Given the description of an element on the screen output the (x, y) to click on. 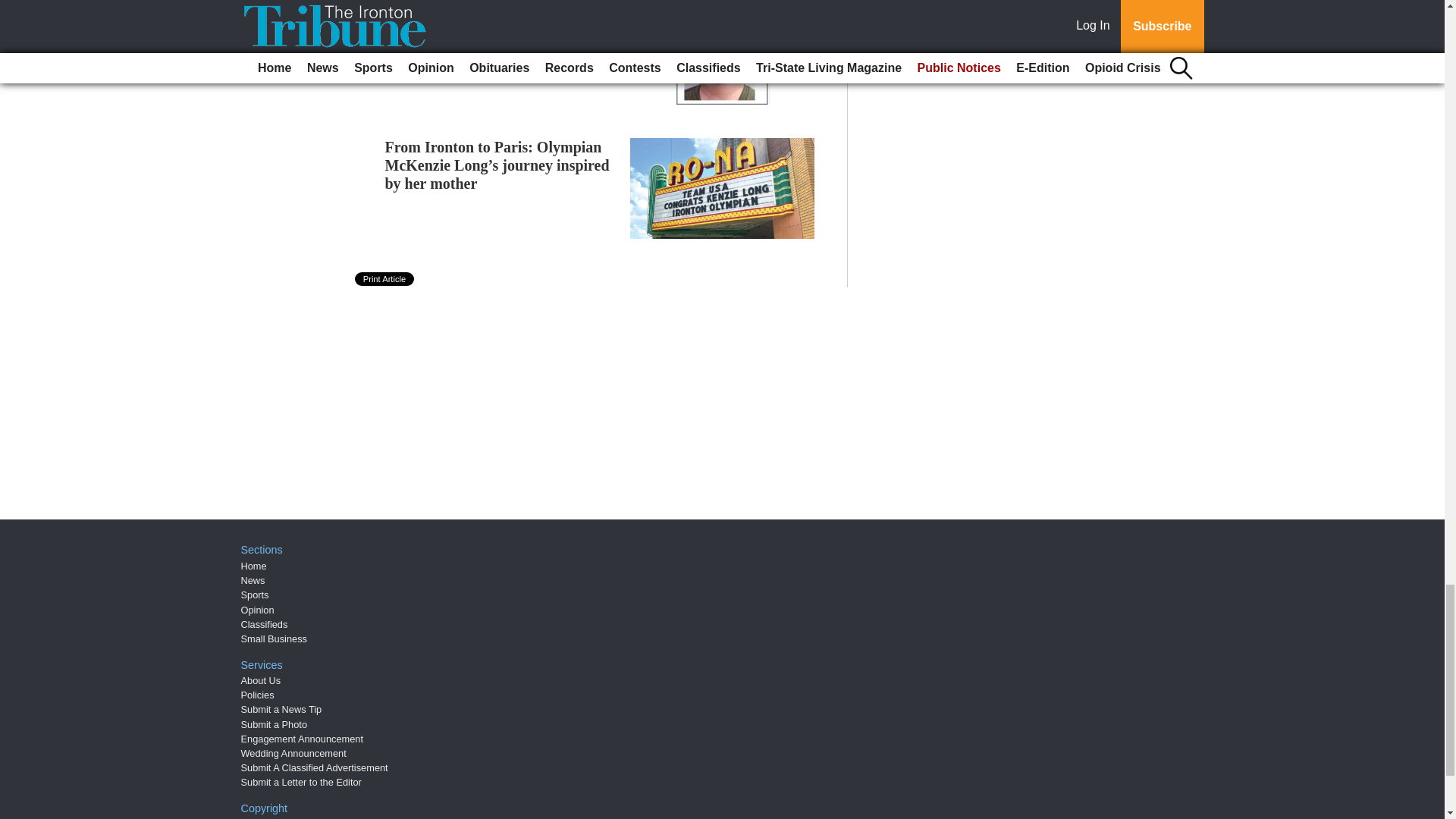
News (252, 580)
Print Article (384, 278)
Home (253, 565)
